Given the description of an element on the screen output the (x, y) to click on. 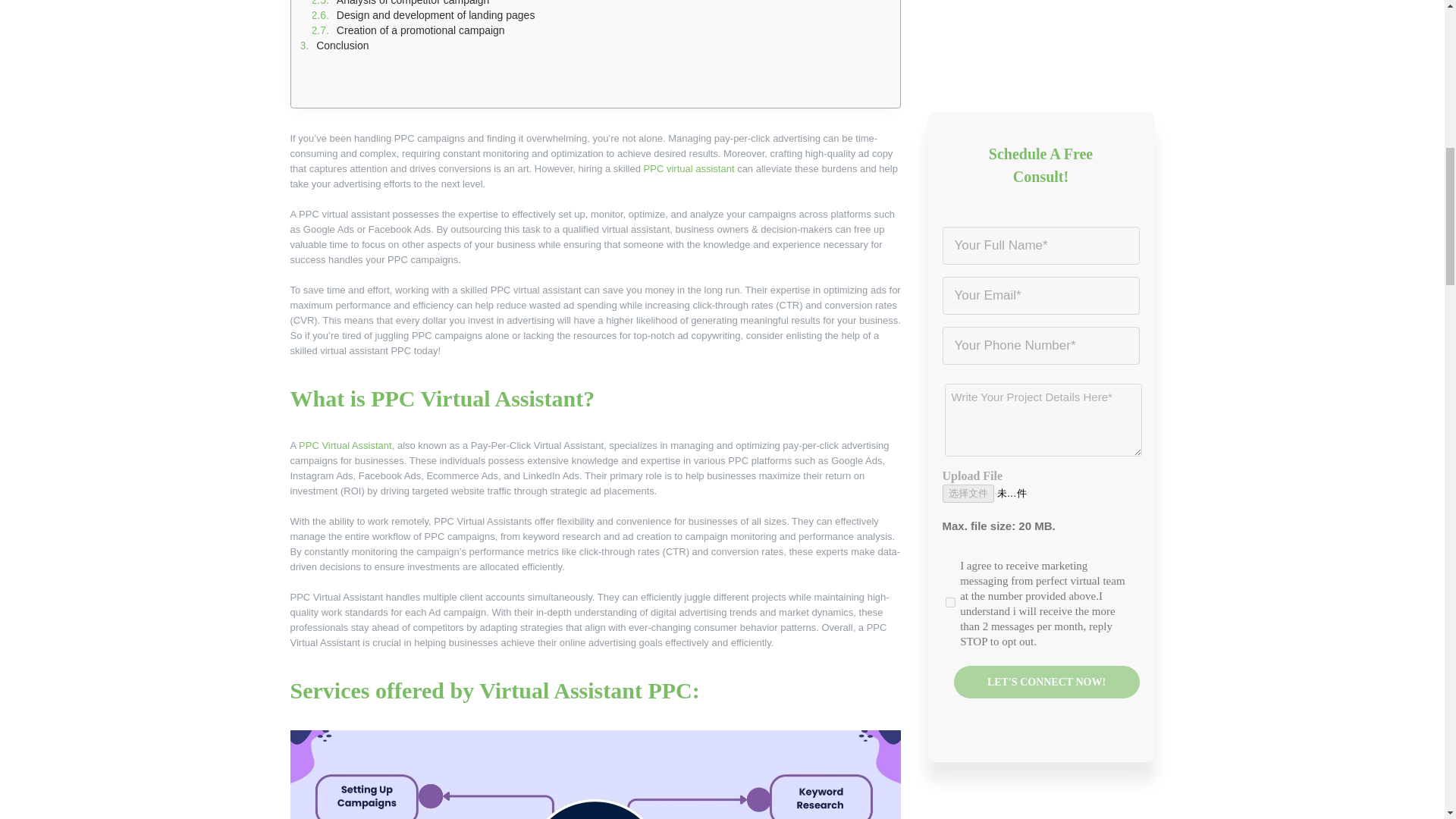
Services Offered by PPC Virtual Assistants (595, 774)
